Given the description of an element on the screen output the (x, y) to click on. 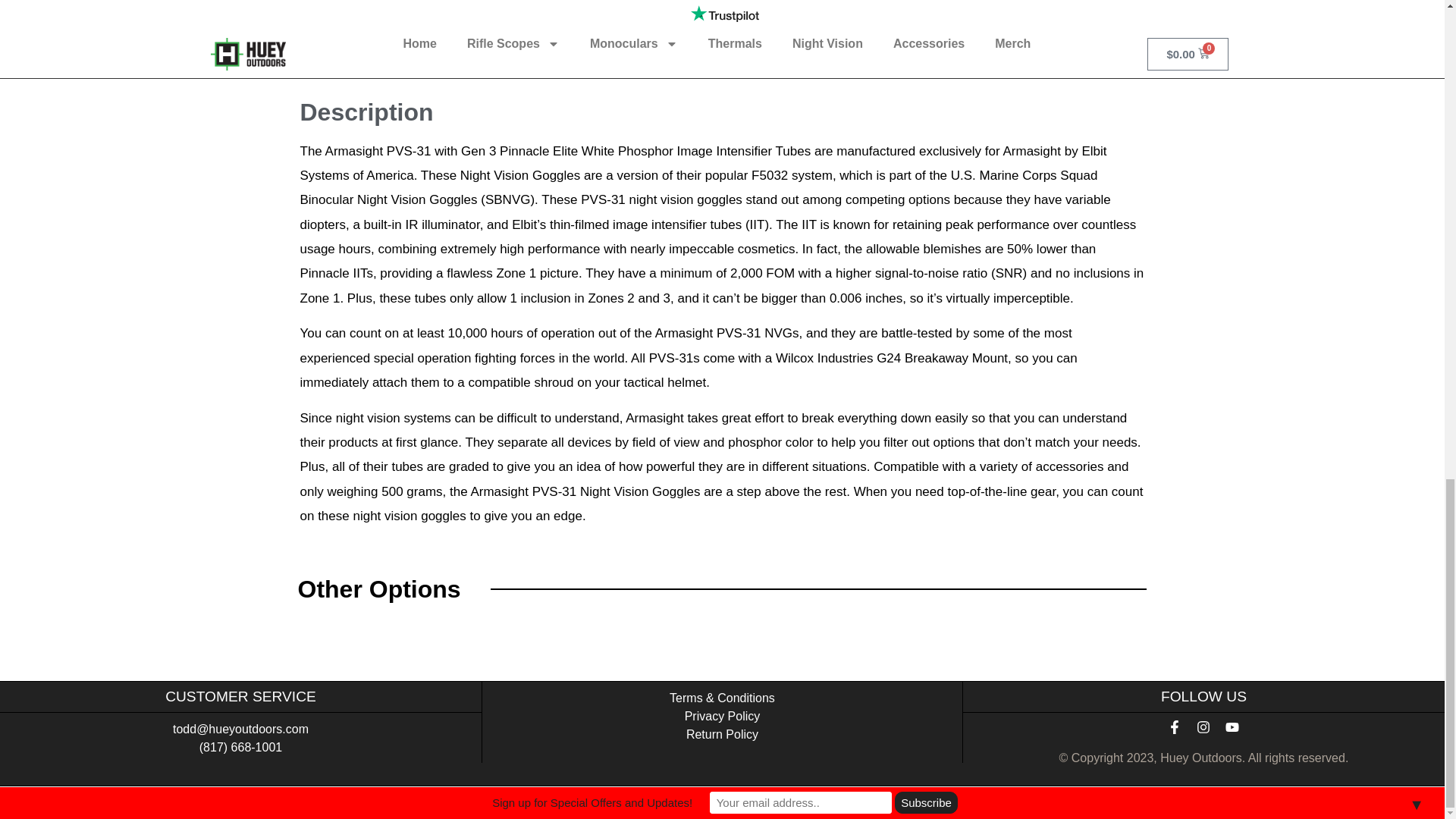
Customer reviews powered by Trustpilot (722, 22)
